Given the description of an element on the screen output the (x, y) to click on. 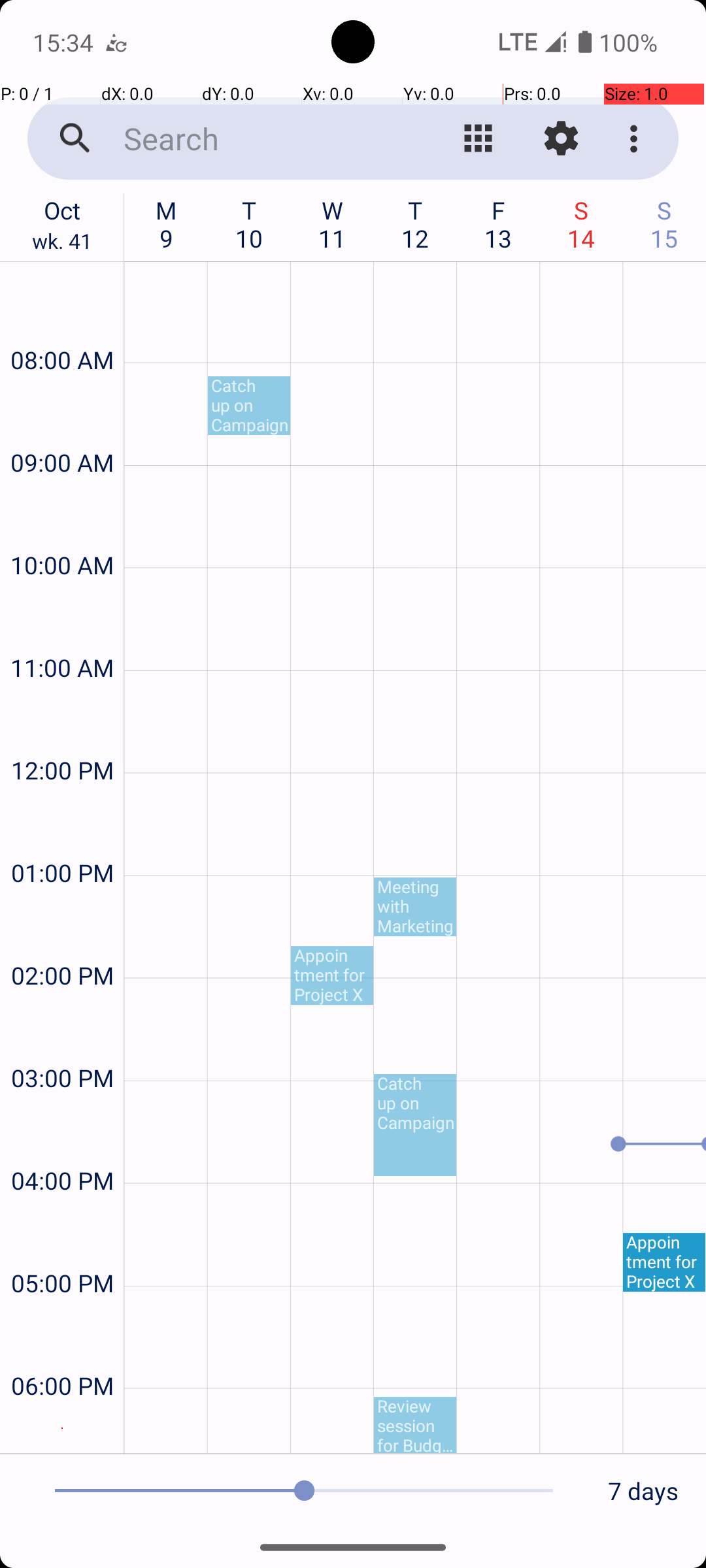
08:00 AM Element type: android.widget.TextView (62, 324)
09:00 AM Element type: android.widget.TextView (62, 427)
10:00 AM Element type: android.widget.TextView (62, 529)
12:00 PM Element type: android.widget.TextView (62, 735)
02:00 PM Element type: android.widget.TextView (62, 940)
03:00 PM Element type: android.widget.TextView (62, 1042)
04:00 PM Element type: android.widget.TextView (62, 1145)
05:00 PM Element type: android.widget.TextView (62, 1247)
06:00 PM Element type: android.widget.TextView (62, 1350)
07:00 PM Element type: android.widget.TextView (62, 1428)
